Given the description of an element on the screen output the (x, y) to click on. 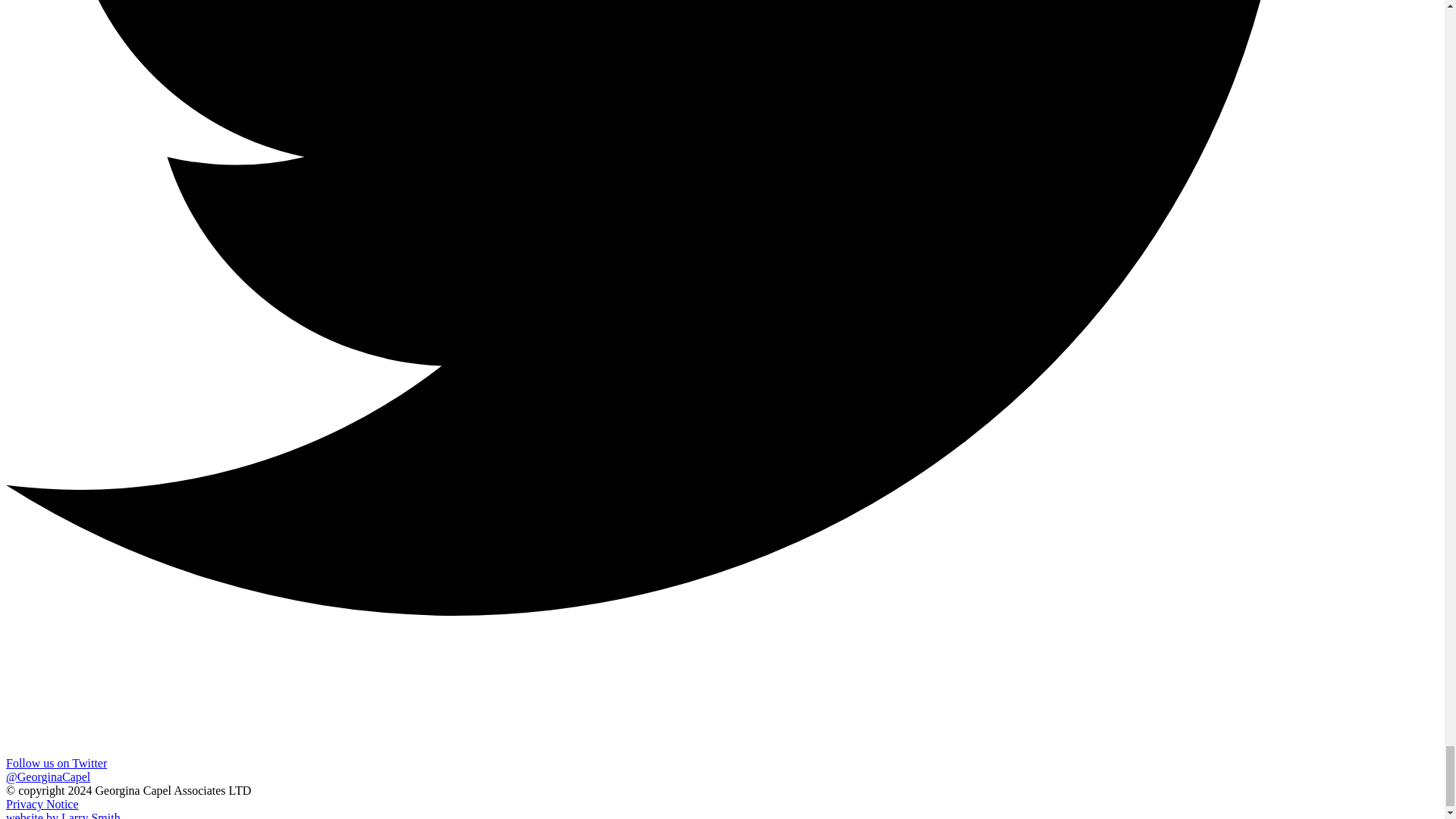
Privacy Notice (41, 803)
